Given the description of an element on the screen output the (x, y) to click on. 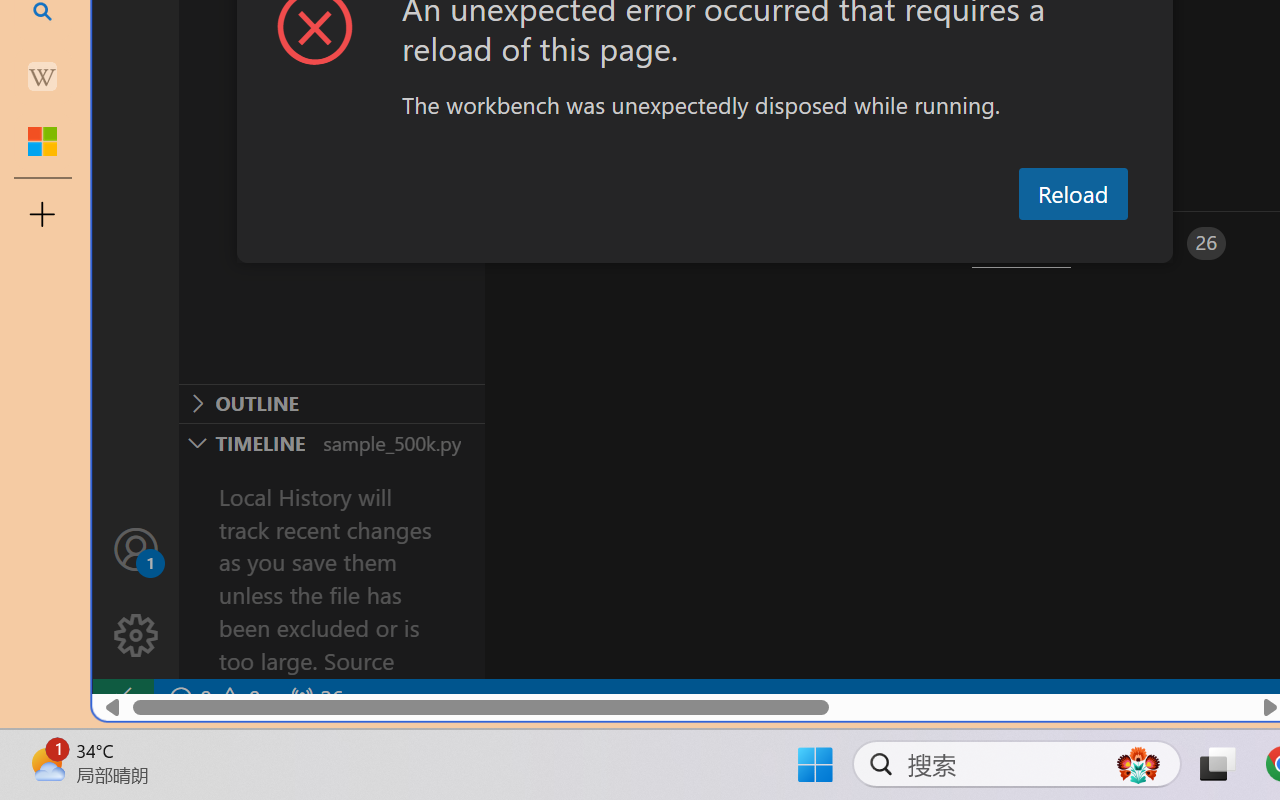
Output (Ctrl+Shift+U) (696, 243)
No Problems (212, 698)
Debug Console (Ctrl+Shift+Y) (854, 243)
remote (122, 698)
Accounts - Sign in requested (135, 548)
Problems (Ctrl+Shift+M) (567, 243)
Reload (1071, 193)
Outline Section (331, 403)
